Given the description of an element on the screen output the (x, y) to click on. 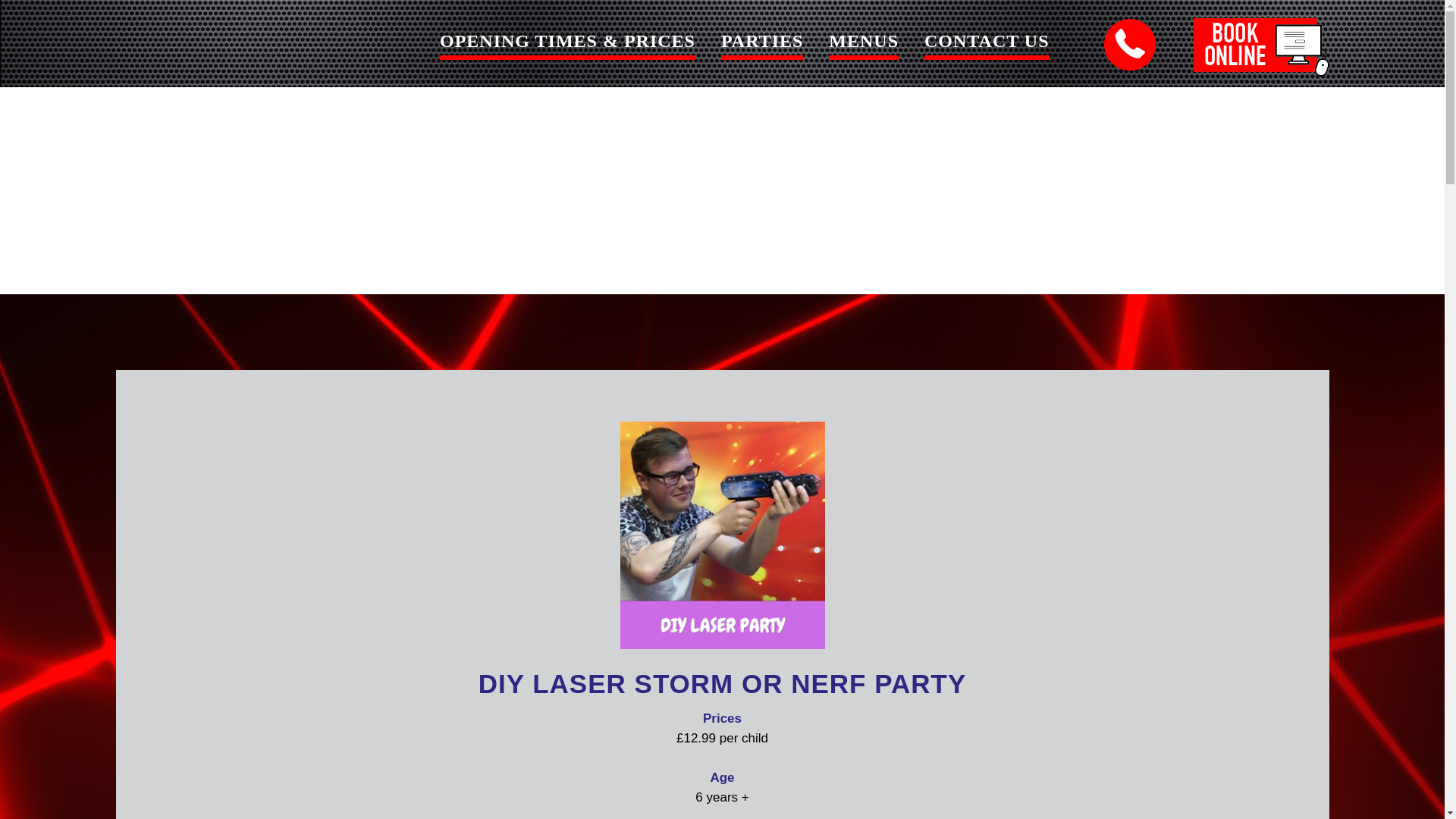
MENUS (863, 43)
CONTACT US (986, 43)
PARTIES (761, 43)
